Given the description of an element on the screen output the (x, y) to click on. 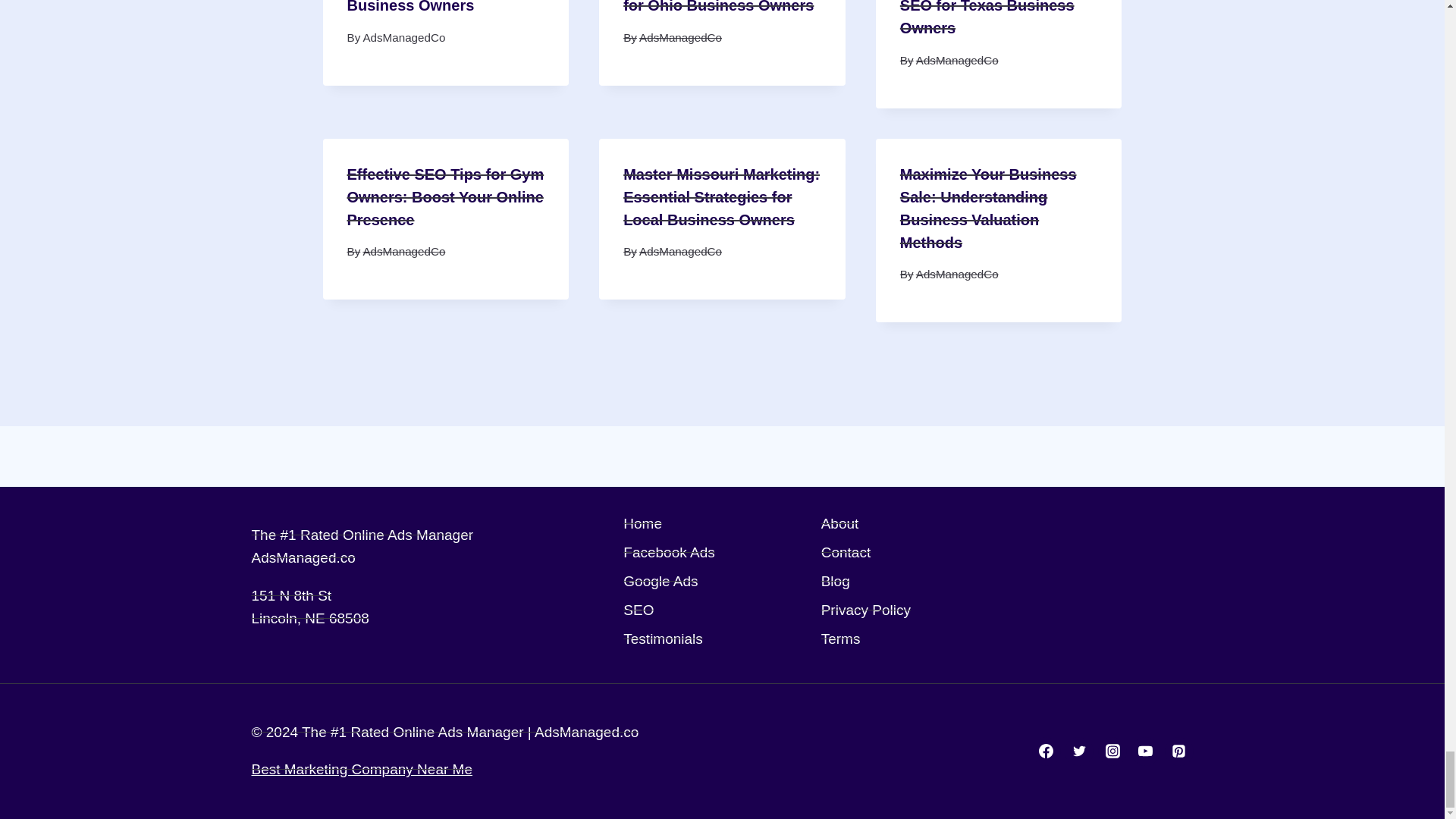
AdsManagedCo (680, 37)
Discover Top Colorado Marketing Agencies for Business Owners (430, 6)
AdsManagedCo (956, 60)
AdsManagedCo (403, 37)
